Given the description of an element on the screen output the (x, y) to click on. 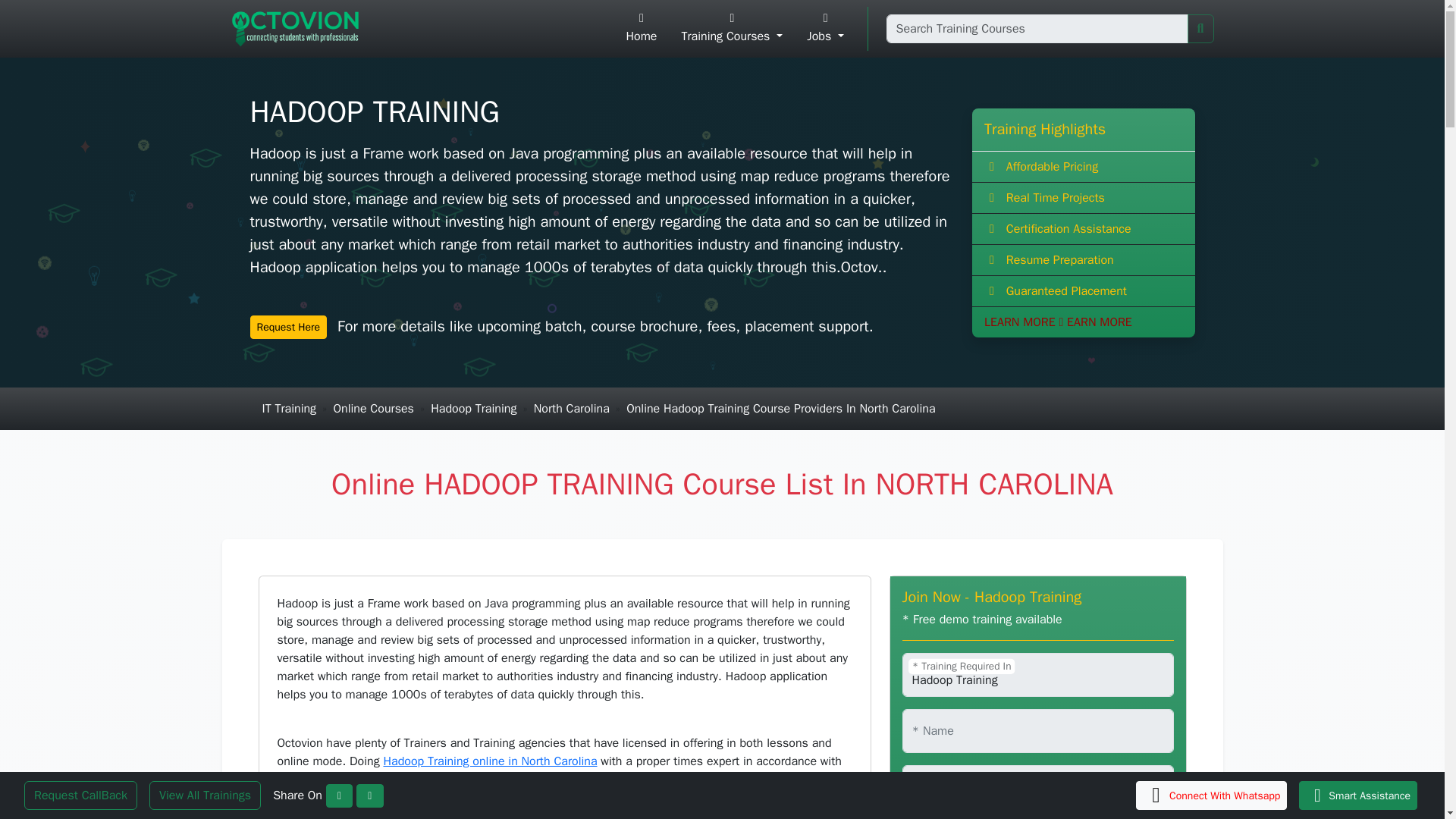
Request Here (288, 327)
Online Hadoop Training Course Providers In North Carolina (780, 408)
Hadoop Training (1037, 674)
Home (641, 28)
Hadoop Training (473, 408)
Online Courses (373, 408)
Jobs (825, 28)
Training Courses (731, 28)
IT Training (289, 408)
Hadoop Training online in North Carolina (489, 761)
Hadoop Training online in North Carolina (489, 761)
North Carolina (572, 408)
